Given the description of an element on the screen output the (x, y) to click on. 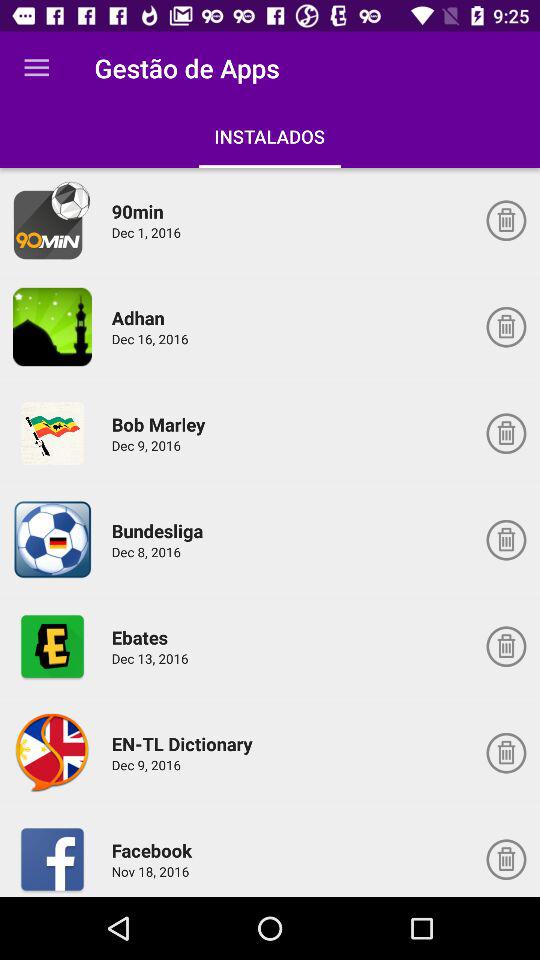
select the icon below dec 9, 2016 icon (154, 850)
